Given the description of an element on the screen output the (x, y) to click on. 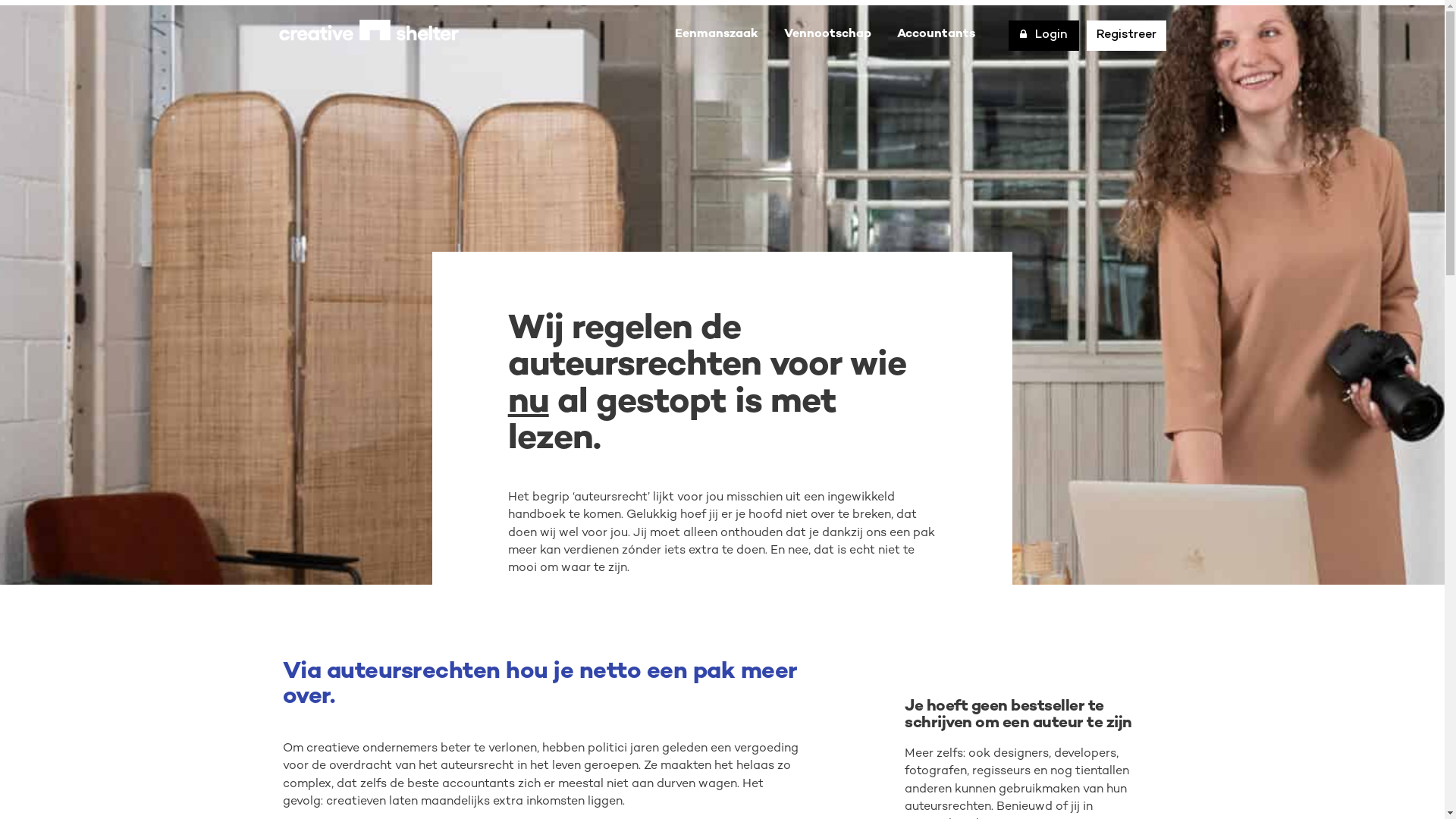
Registreer Element type: text (1125, 35)
Login Element type: text (1043, 35)
